Given the description of an element on the screen output the (x, y) to click on. 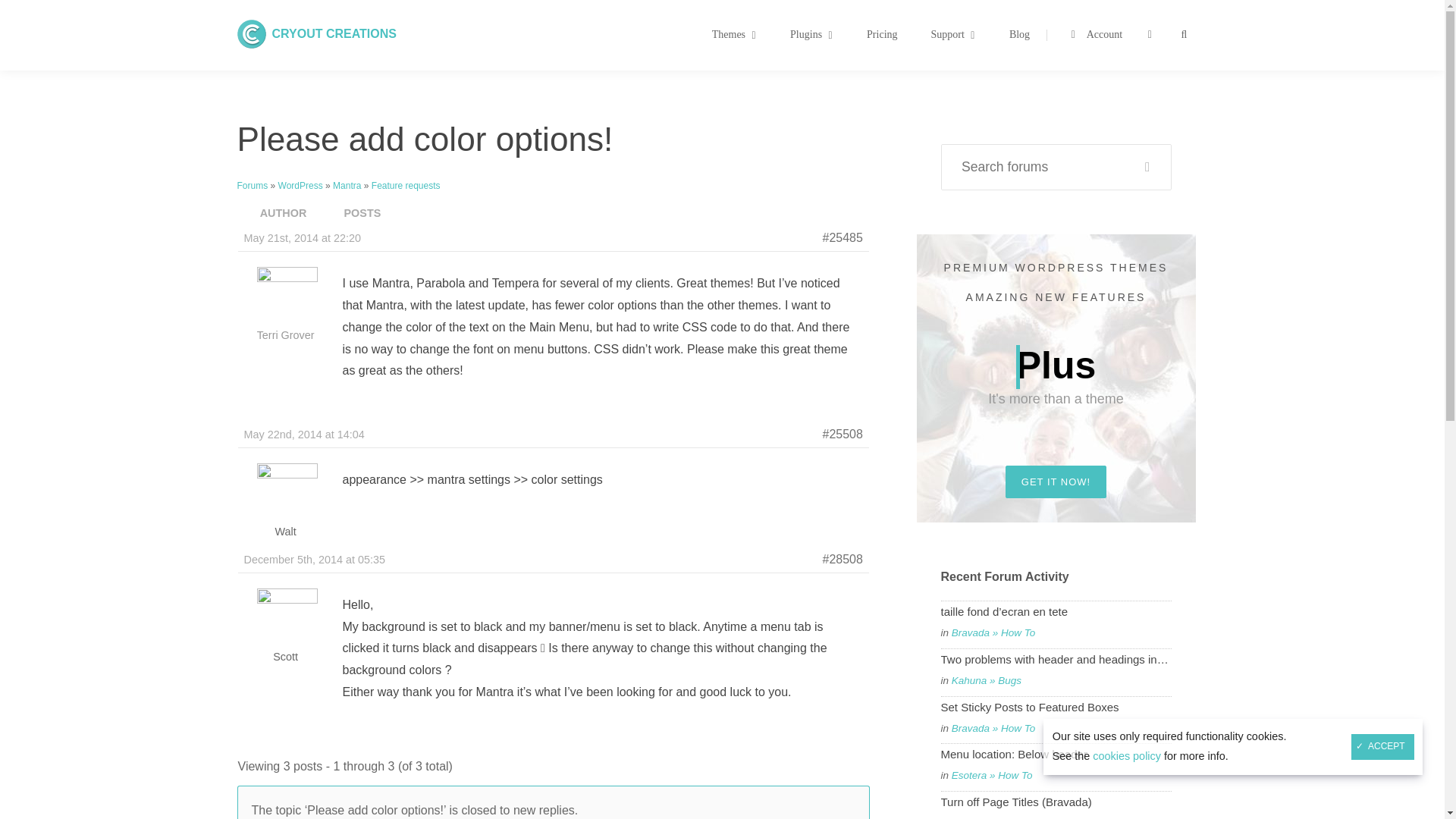
CRYOUT CREATIONS (333, 33)
Themes (734, 34)
Free WordPress Themes and Plugins (898, 35)
Accept cookies and dismiss this notification (333, 33)
